Given the description of an element on the screen output the (x, y) to click on. 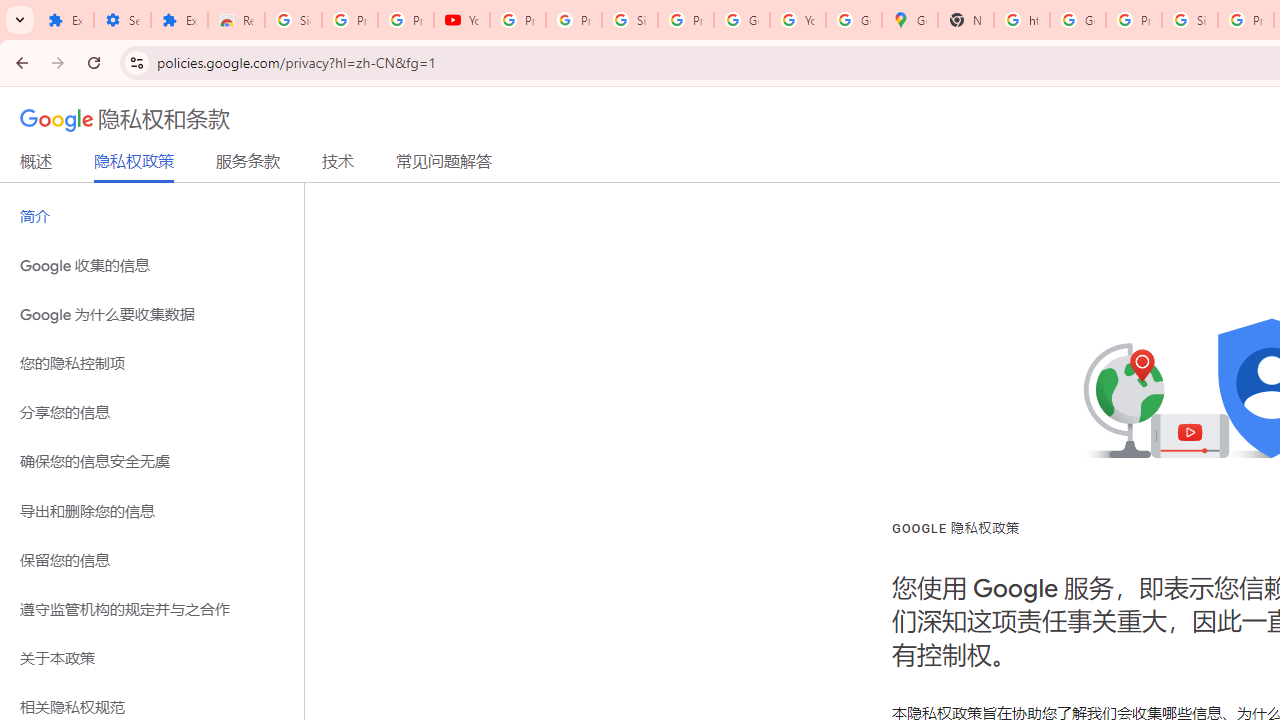
YouTube (797, 20)
Google Account (742, 20)
Settings (122, 20)
Sign in - Google Accounts (629, 20)
